Given the description of an element on the screen output the (x, y) to click on. 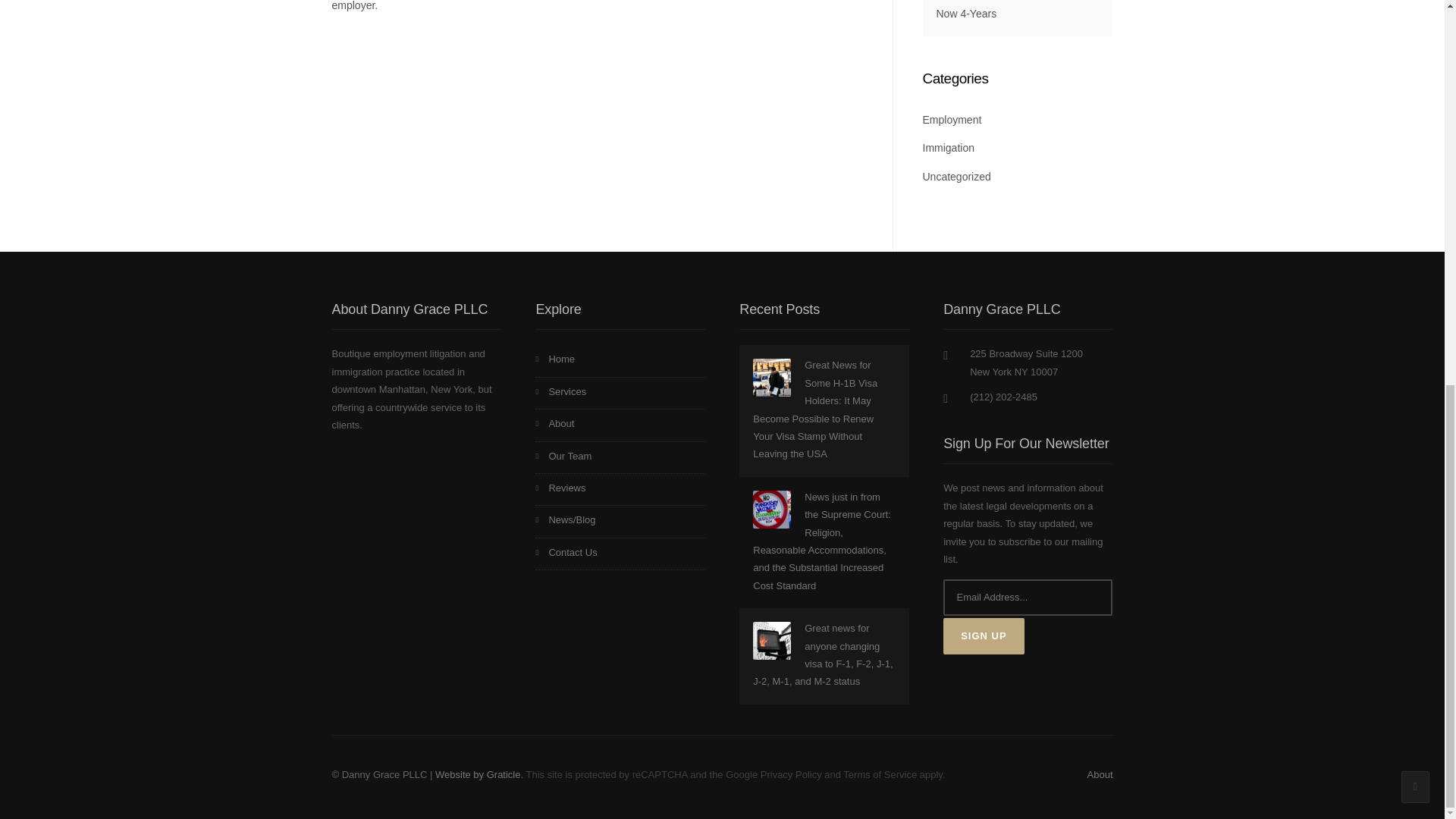
Home (619, 360)
Immigation (947, 147)
Sign Up (983, 636)
Employment (951, 119)
Sign Up (983, 636)
Contact Us (619, 554)
About (619, 425)
Services (619, 393)
Uncategorized (955, 176)
Our Team (619, 458)
